Given the description of an element on the screen output the (x, y) to click on. 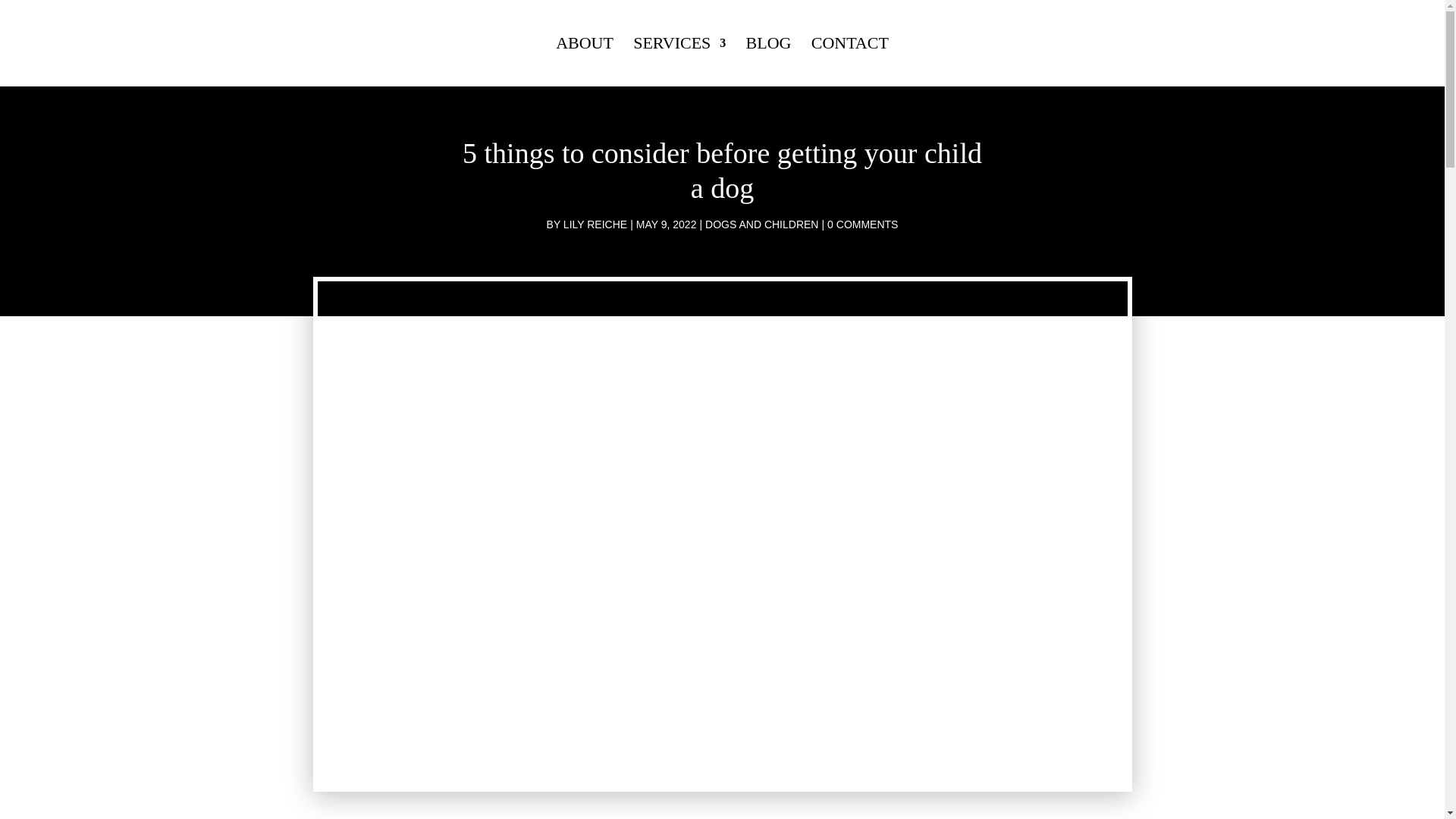
Posts by Lily Reiche (595, 224)
SERVICES (679, 61)
0 COMMENTS (862, 224)
CONTACT (849, 61)
DOGS AND CHILDREN (761, 224)
BLOG (768, 61)
LILY REICHE (595, 224)
ABOUT (584, 61)
